Given the description of an element on the screen output the (x, y) to click on. 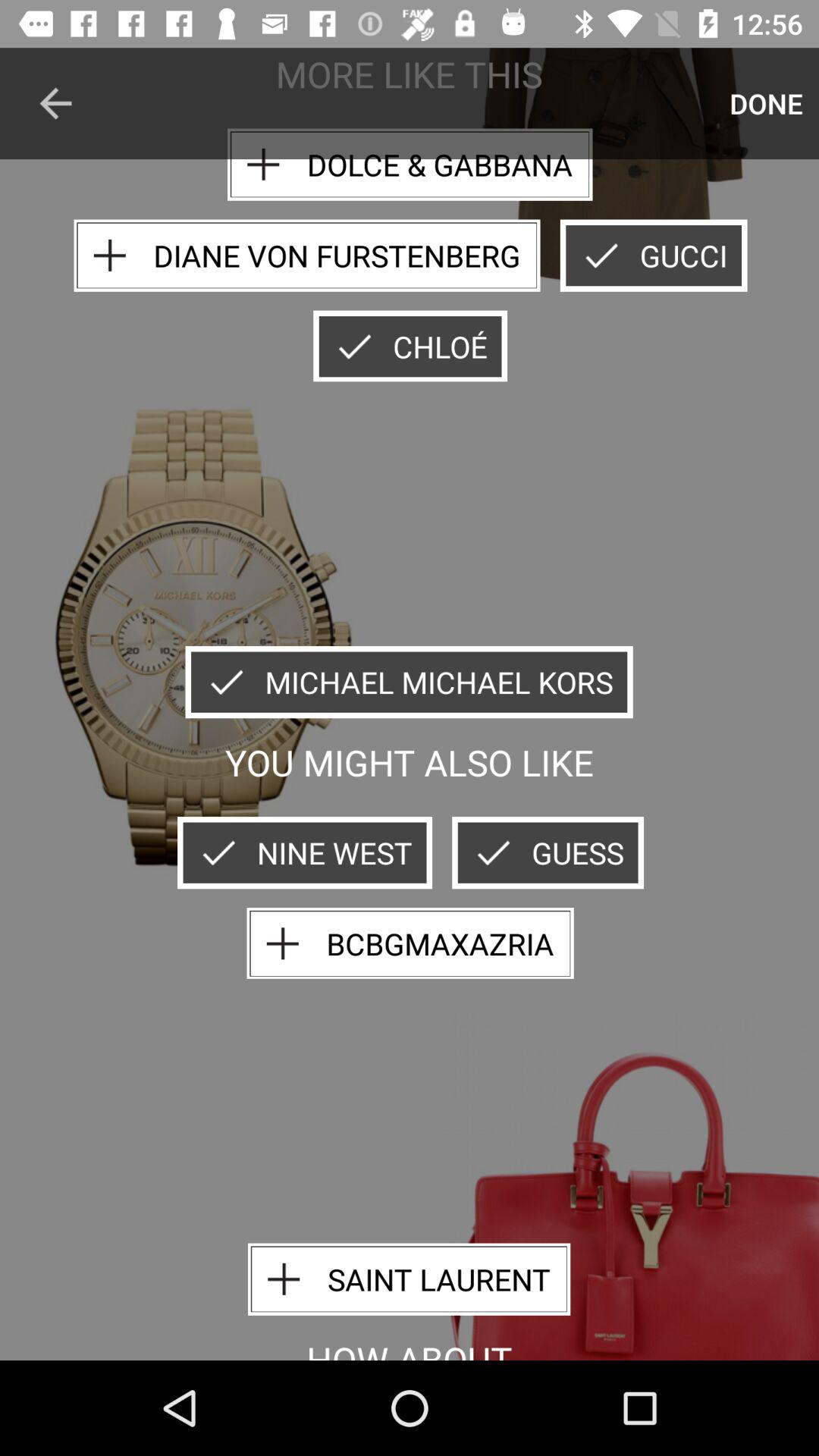
click the item next to the gucci icon (306, 255)
